Given the description of an element on the screen output the (x, y) to click on. 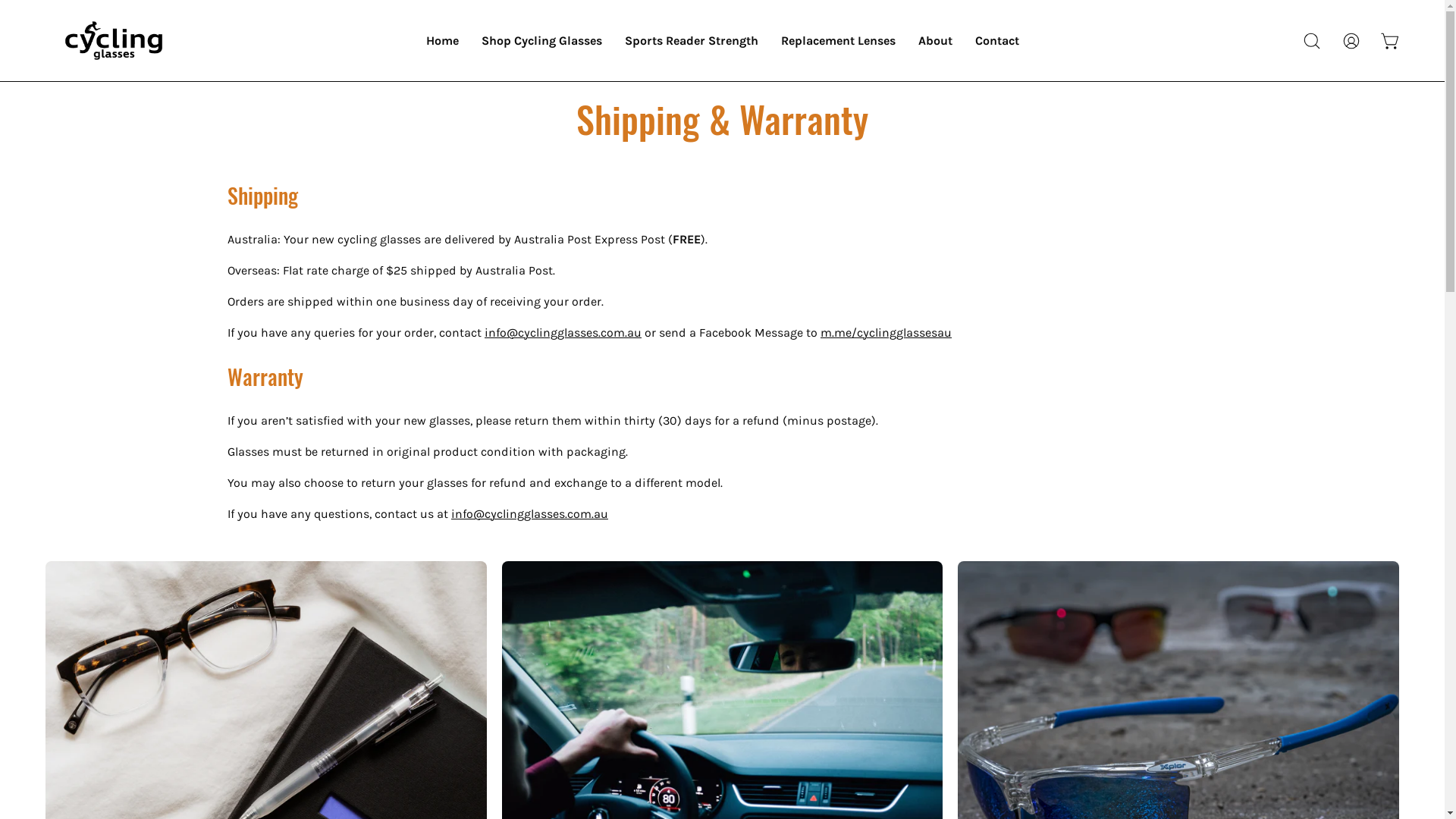
Shop Cycling Glasses Element type: text (541, 40)
Open cart Element type: text (1390, 40)
m.me/cyclingglassesau Element type: text (885, 332)
Replacement Lenses Element type: text (837, 40)
About Element type: text (934, 40)
Contact Element type: text (996, 40)
Home Element type: text (441, 40)
info@cyclingglasses.com.au Element type: text (562, 332)
info@cyclingglasses.com.au Element type: text (529, 513)
My Account Element type: text (1351, 40)
Sports Reader Strength Element type: text (690, 40)
